Given the description of an element on the screen output the (x, y) to click on. 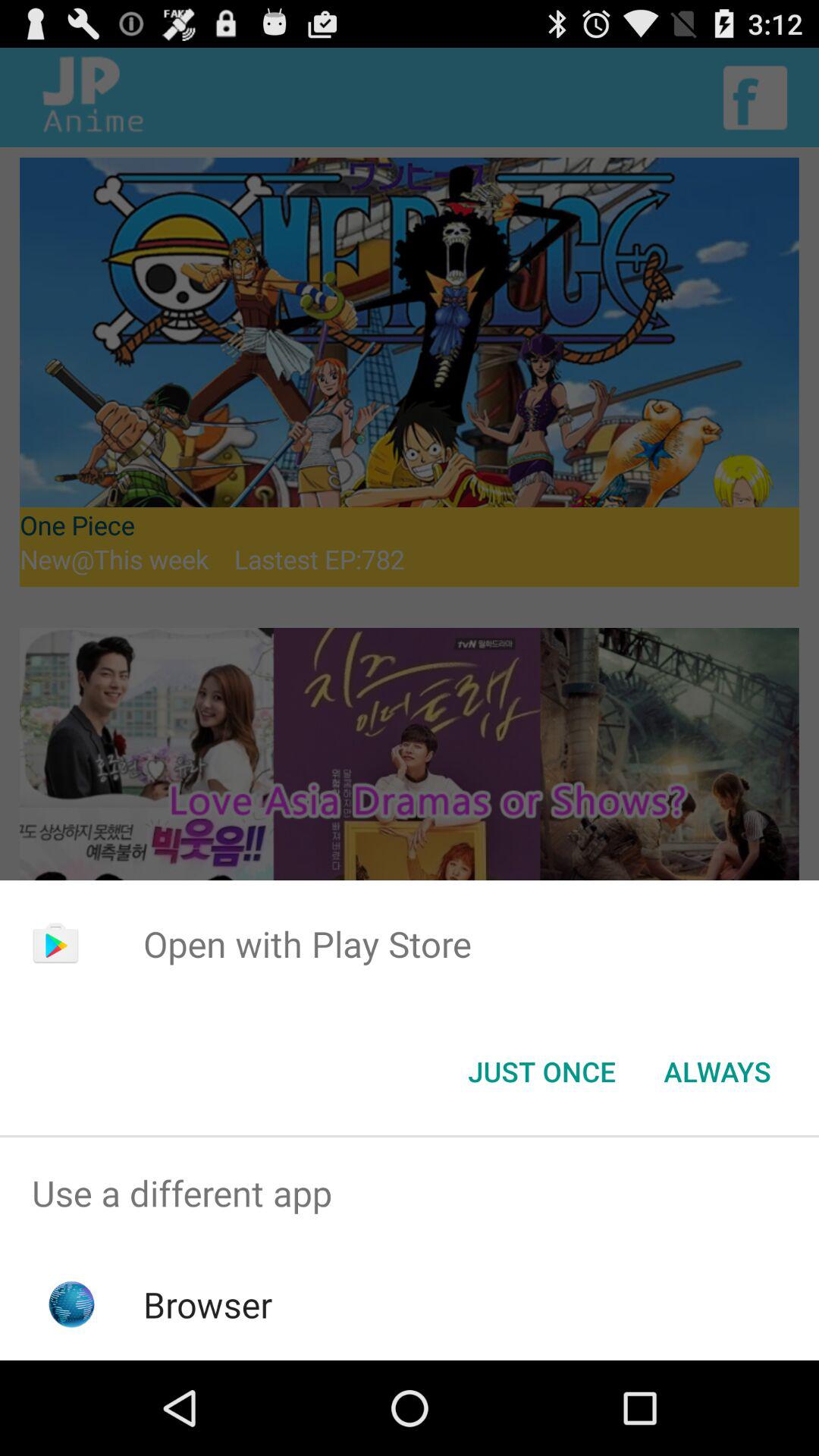
turn on item below use a different item (207, 1304)
